Given the description of an element on the screen output the (x, y) to click on. 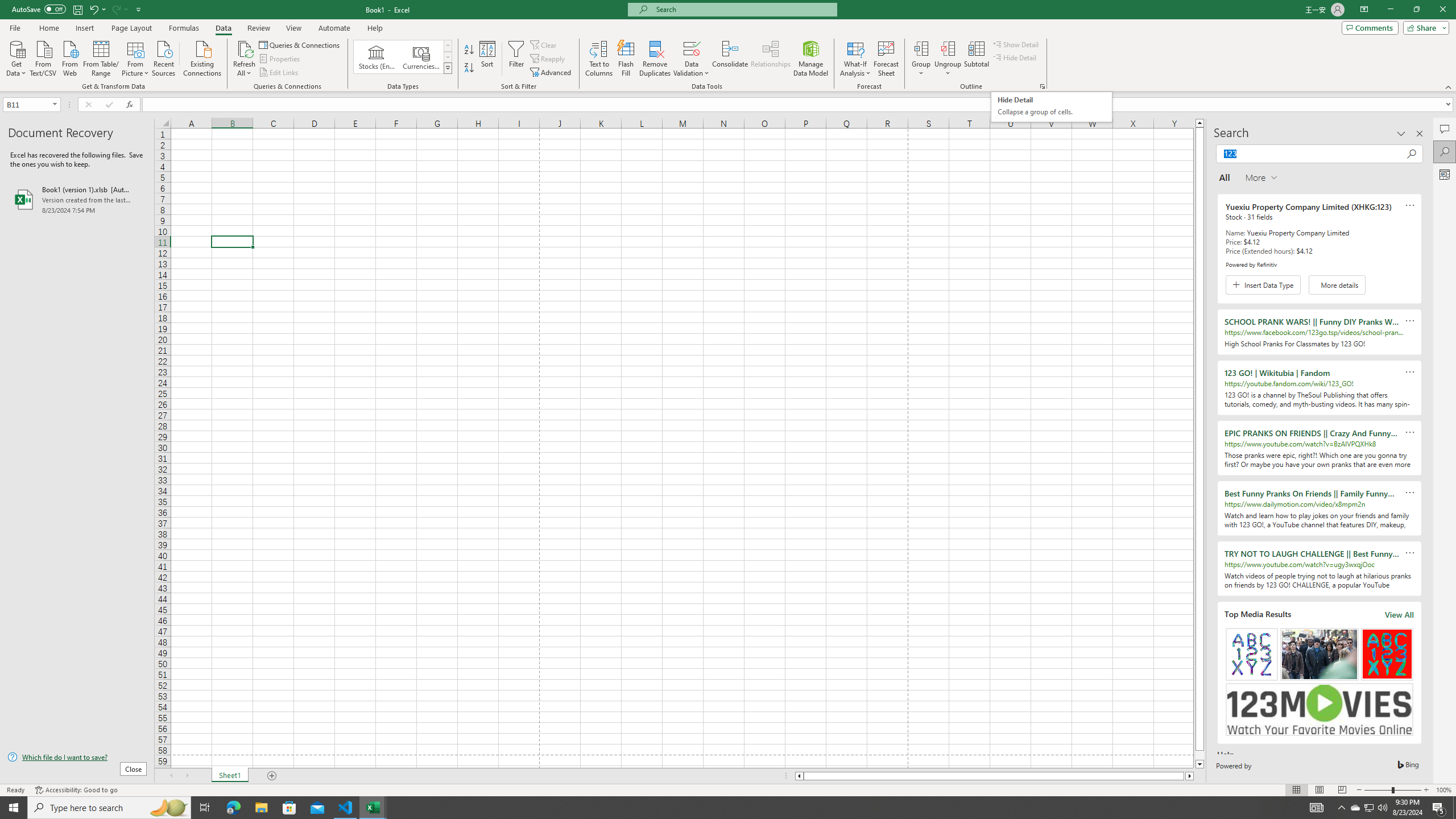
From Picture (135, 57)
